Given the description of an element on the screen output the (x, y) to click on. 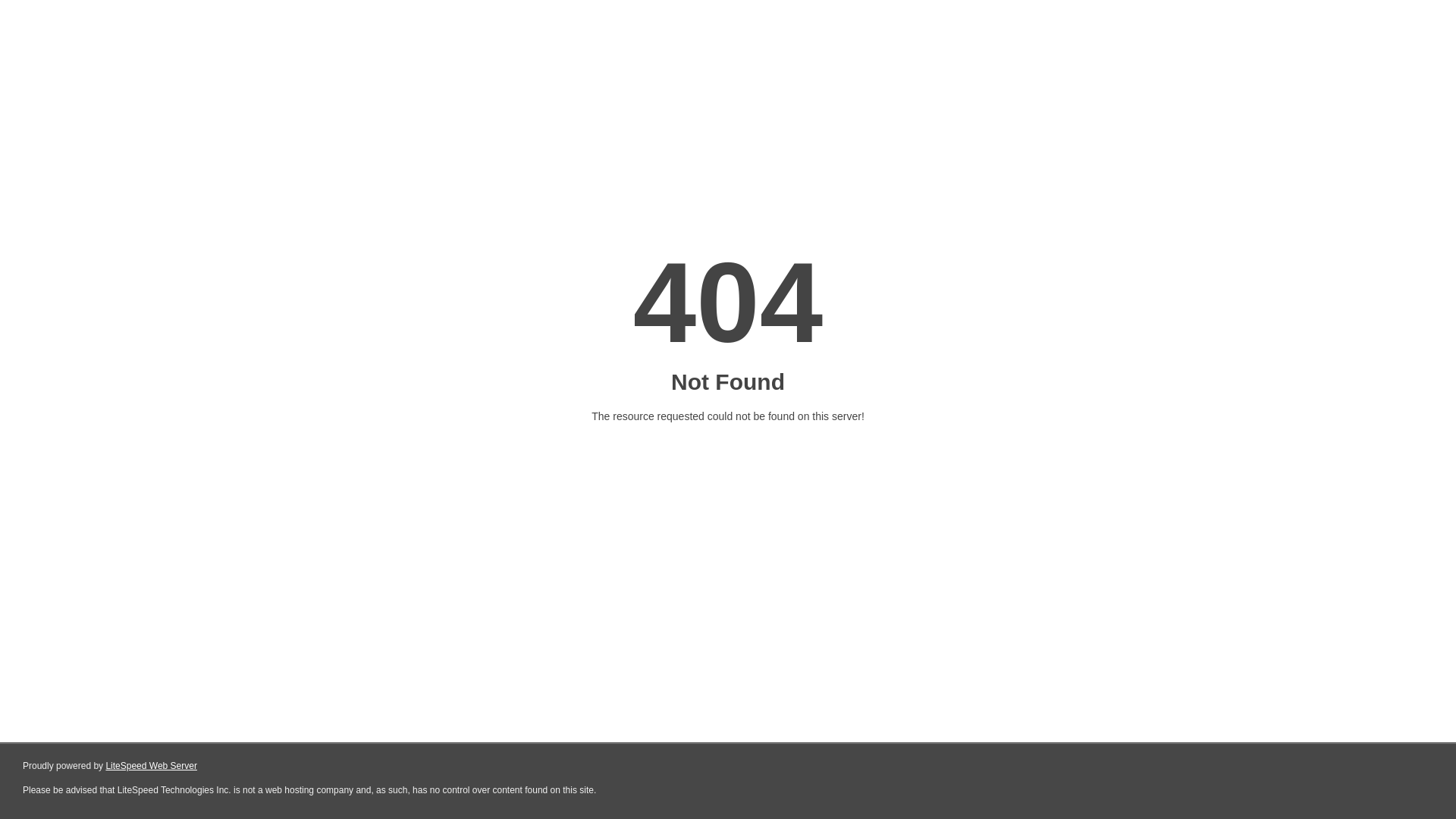
LiteSpeed Web Server Element type: text (151, 765)
